Given the description of an element on the screen output the (x, y) to click on. 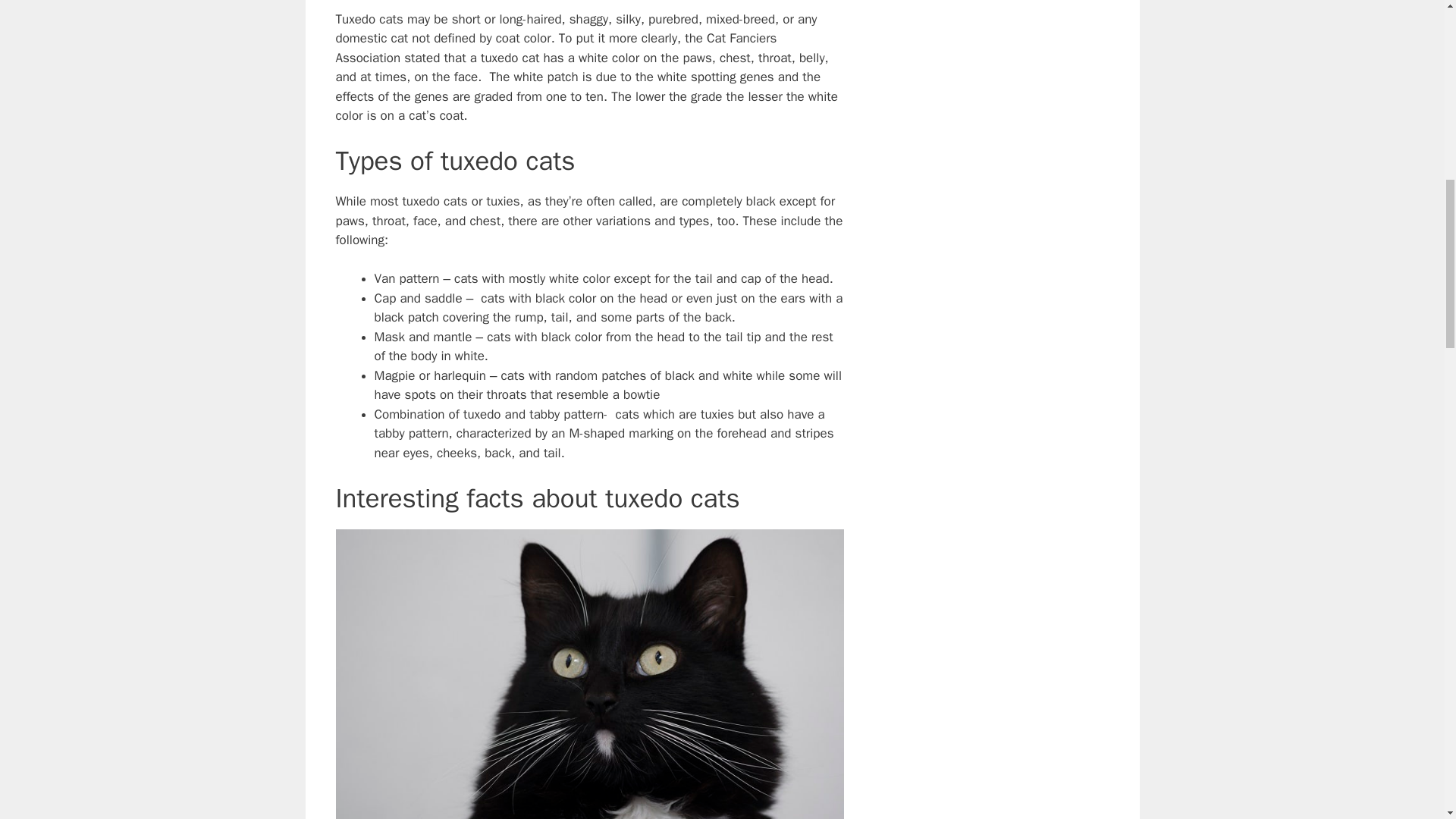
Scroll back to top (1406, 720)
